Given the description of an element on the screen output the (x, y) to click on. 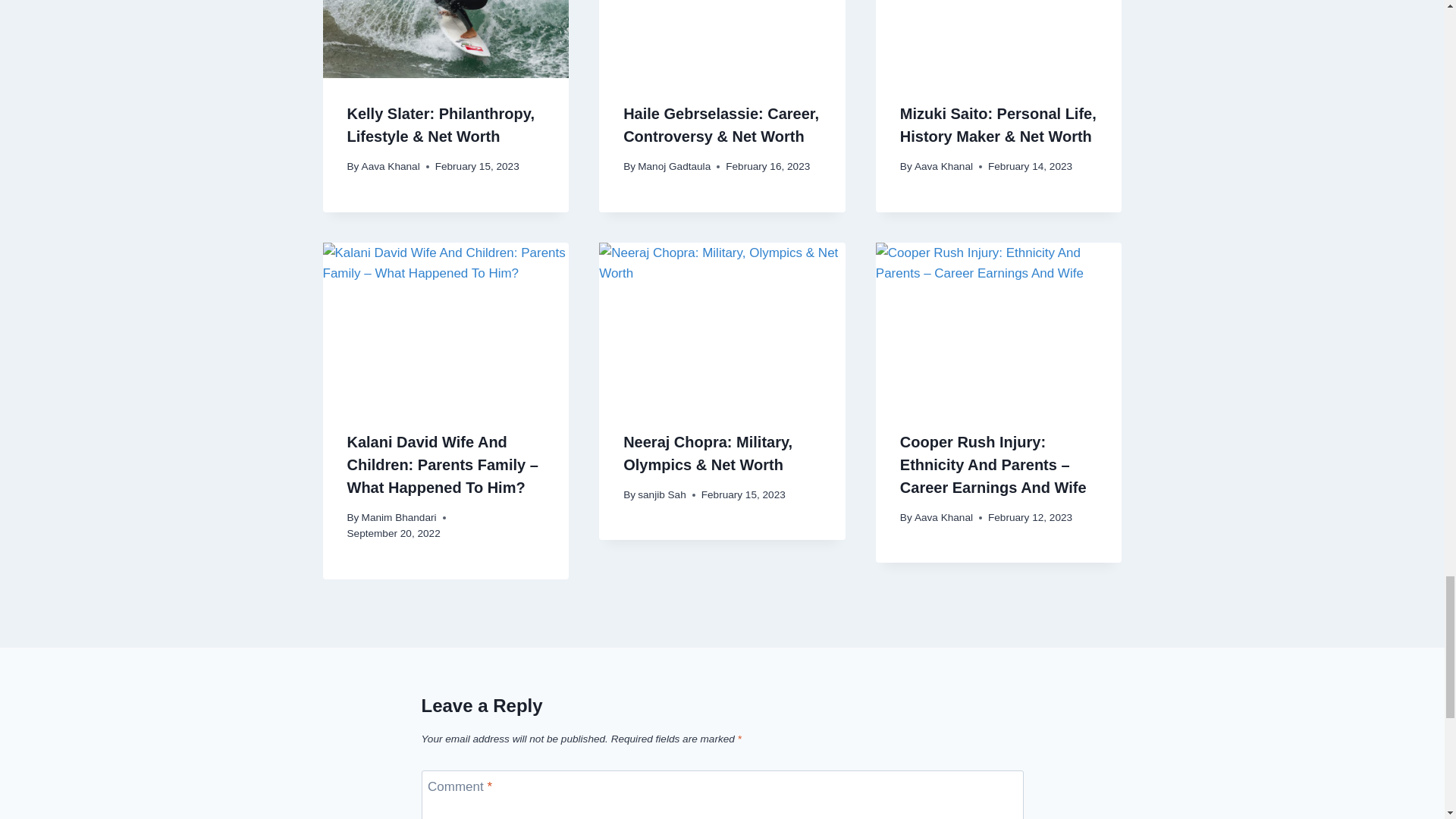
Manoj Gadtaula (673, 165)
Aava Khanal (943, 165)
Aava Khanal (390, 165)
